Given the description of an element on the screen output the (x, y) to click on. 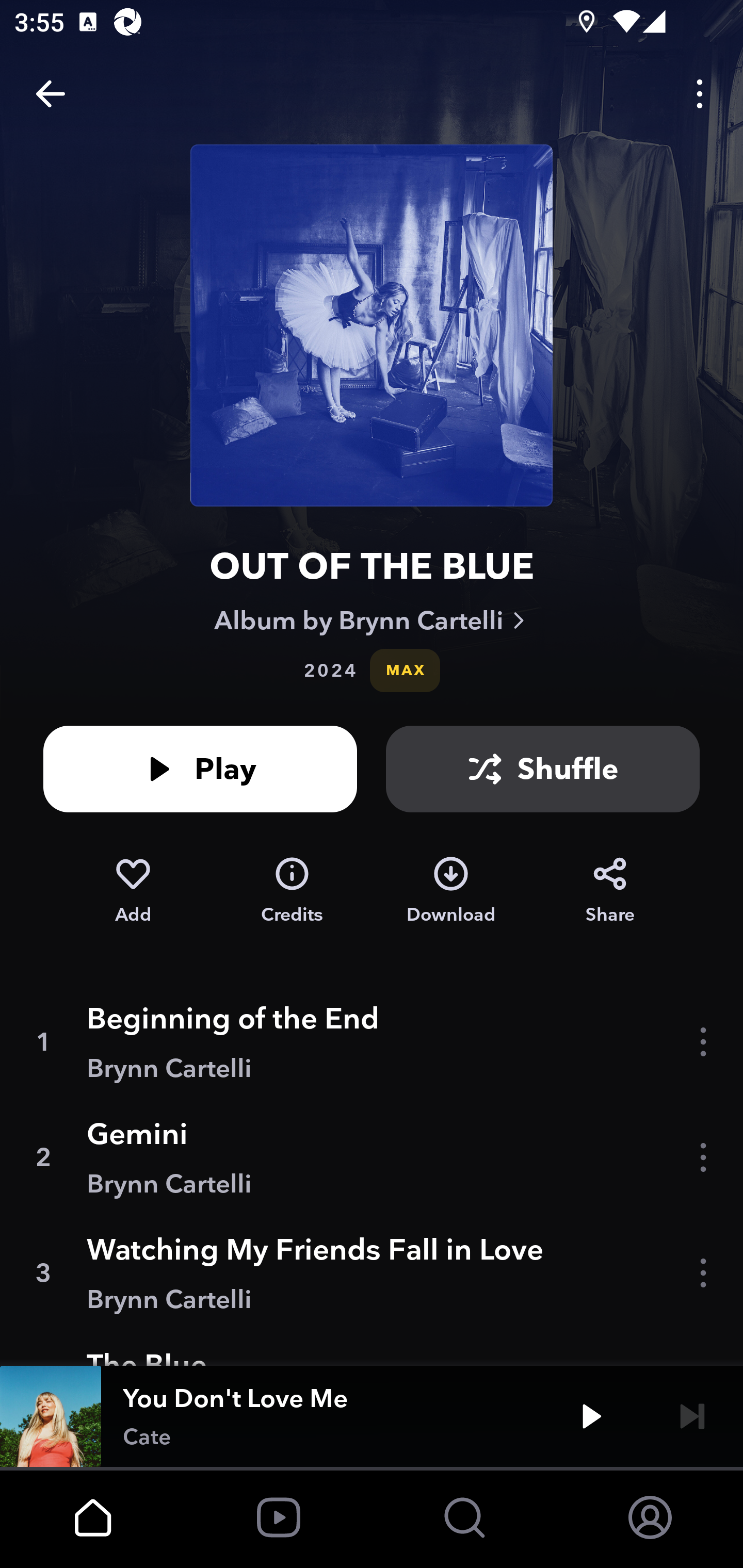
Options (699, 93)
OUT OF THE BLUE (371, 565)
Album by Brynn Cartelli (371, 619)
Play (200, 768)
Shuffle (542, 768)
Add to My Collection Add (132, 890)
Credits (291, 890)
Download (450, 890)
Share (609, 890)
1 Beginning of the End Brynn Cartelli (371, 1041)
2 Gemini Brynn Cartelli (371, 1157)
3 Watching My Friends Fall in Love Brynn Cartelli (371, 1273)
You Don't Love Me Cate Play (371, 1416)
Play (590, 1416)
